Given the description of an element on the screen output the (x, y) to click on. 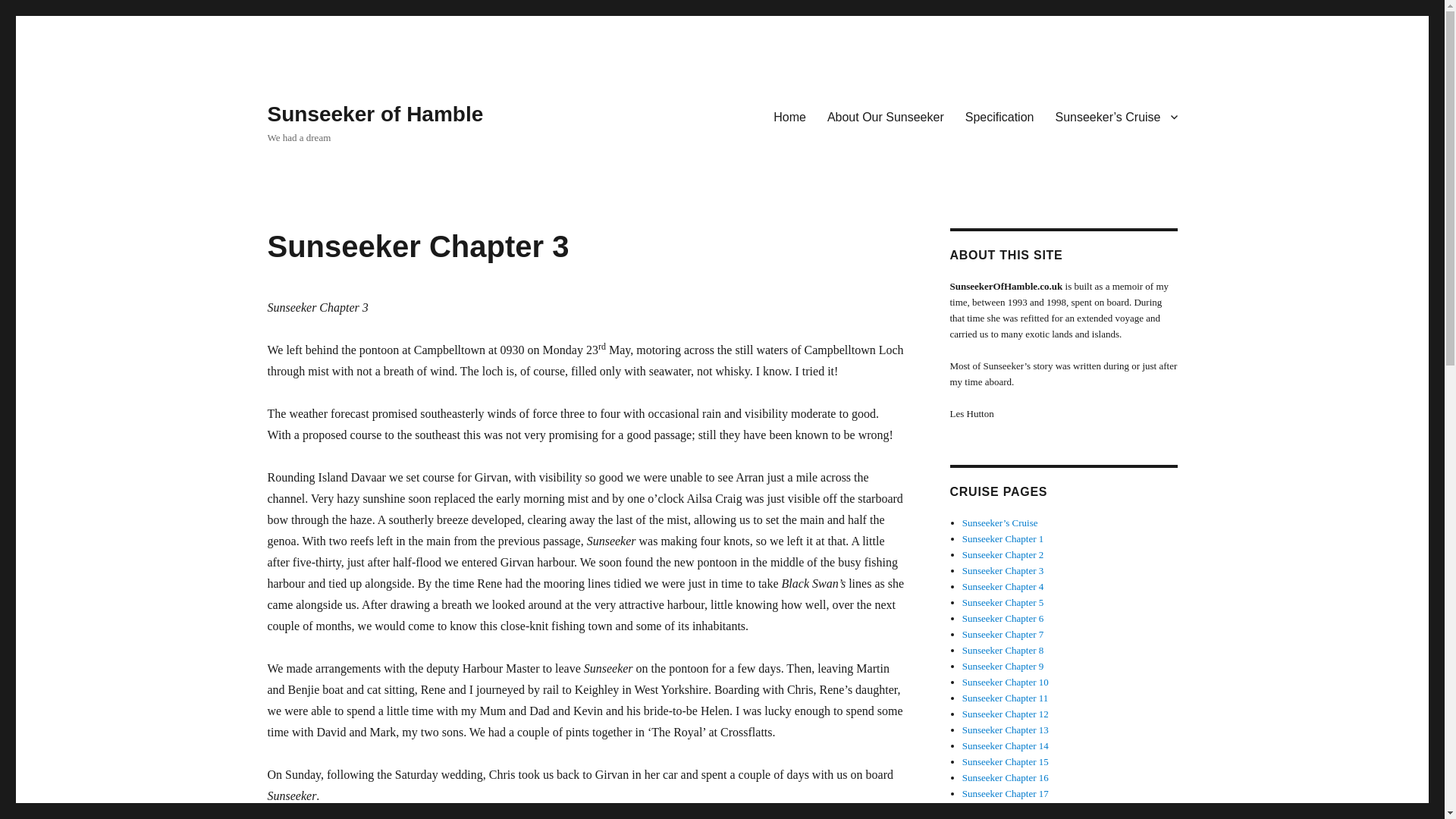
Sunseeker Chapter 15 (1005, 761)
Sunseeker Chapter 7 (1002, 633)
Sunseeker Chapter 13 (1005, 729)
About Our Sunseeker (885, 116)
Home (789, 116)
Sunseeker Chapter 11 (1005, 697)
Sunseeker Chapter 6 (1002, 618)
Sunseeker Chapter 4 (1002, 586)
Sunseeker Chapter 9 (1002, 665)
Sunseeker Chapter 5 (1002, 602)
Sunseeker Chapter 3 (1002, 570)
Sunseeker Chapter 16 (1005, 777)
Sunseeker Chapter 10 (1005, 681)
Sunseeker of Hamble (374, 114)
Specification (1000, 116)
